Given the description of an element on the screen output the (x, y) to click on. 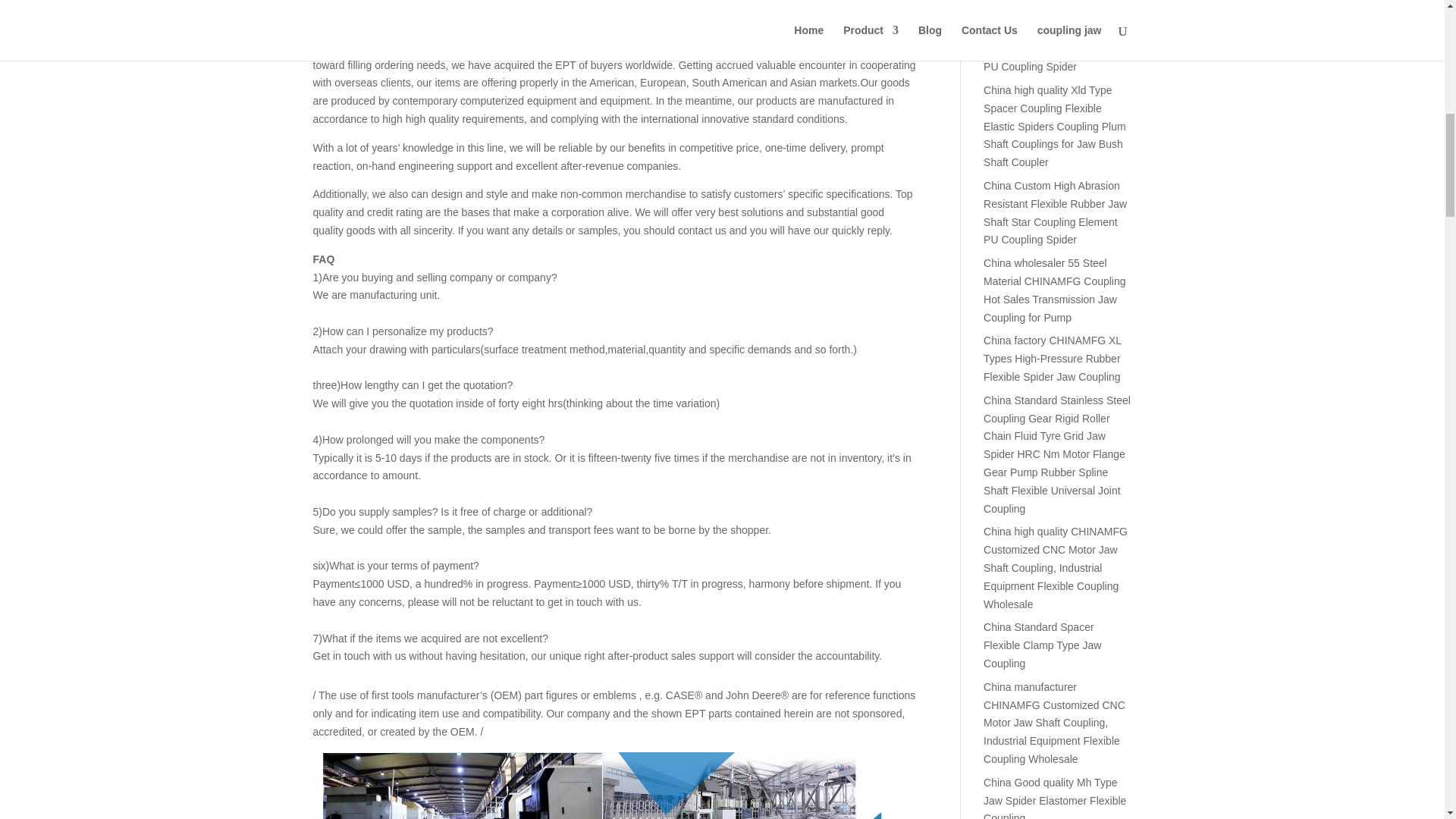
China Standard Spacer Flexible Clamp Type Jaw Coupling (1042, 644)
